Given the description of an element on the screen output the (x, y) to click on. 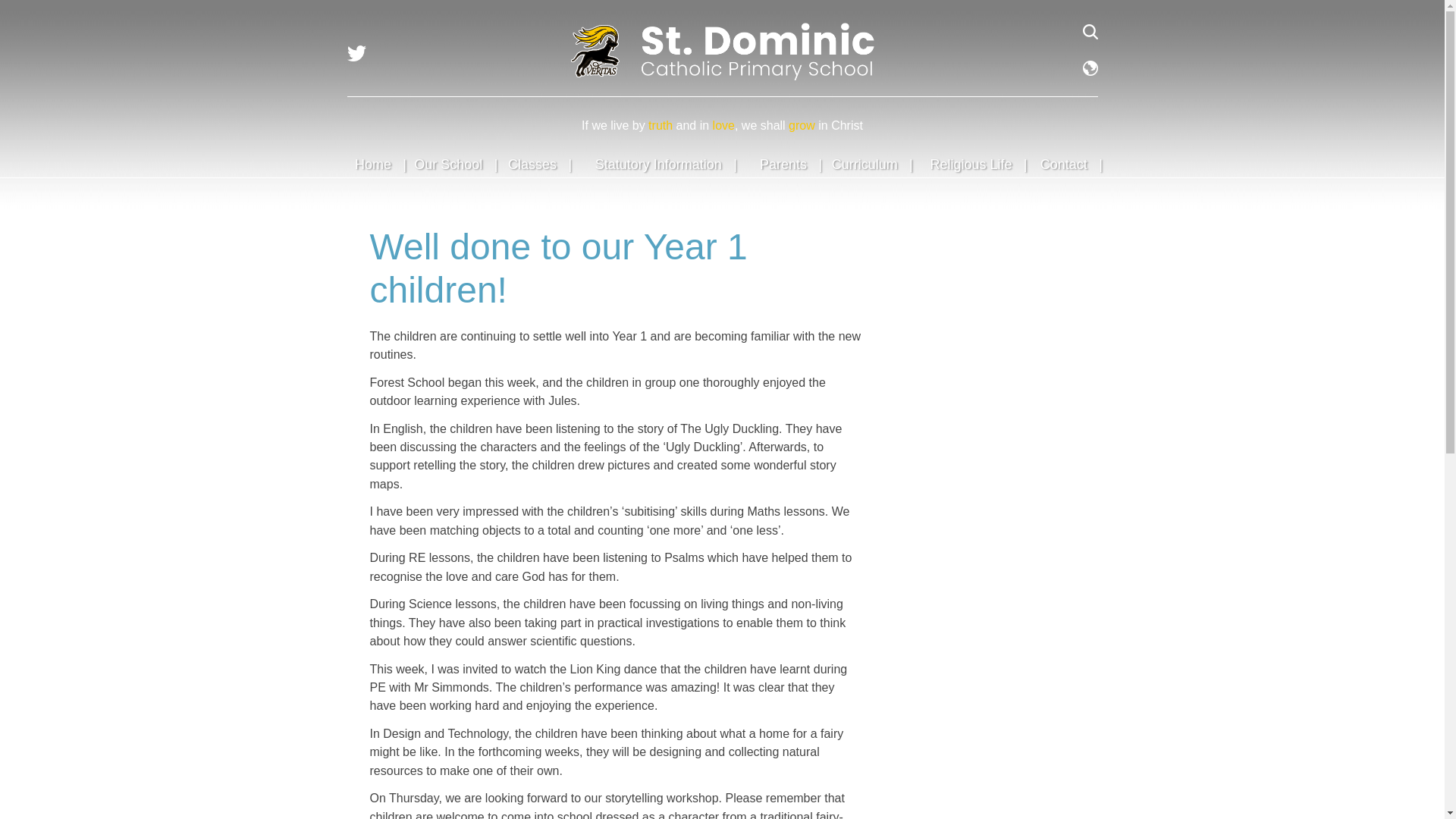
Home (373, 164)
Statutory Information (658, 164)
Our School (447, 164)
Search site (1090, 31)
Search site (1090, 31)
Classes (532, 164)
